Given the description of an element on the screen output the (x, y) to click on. 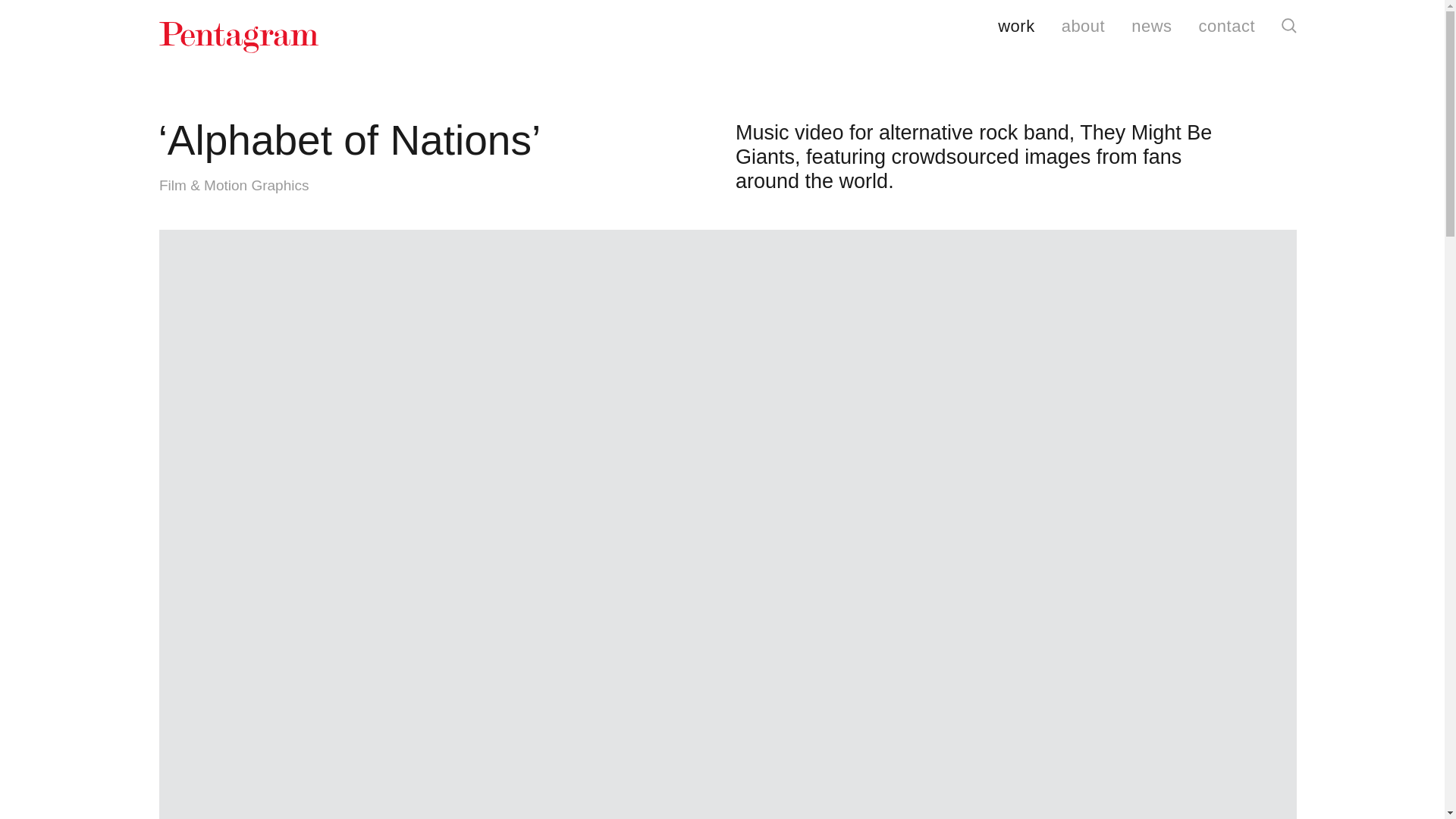
contact (1226, 26)
Search (1289, 25)
